Given the description of an element on the screen output the (x, y) to click on. 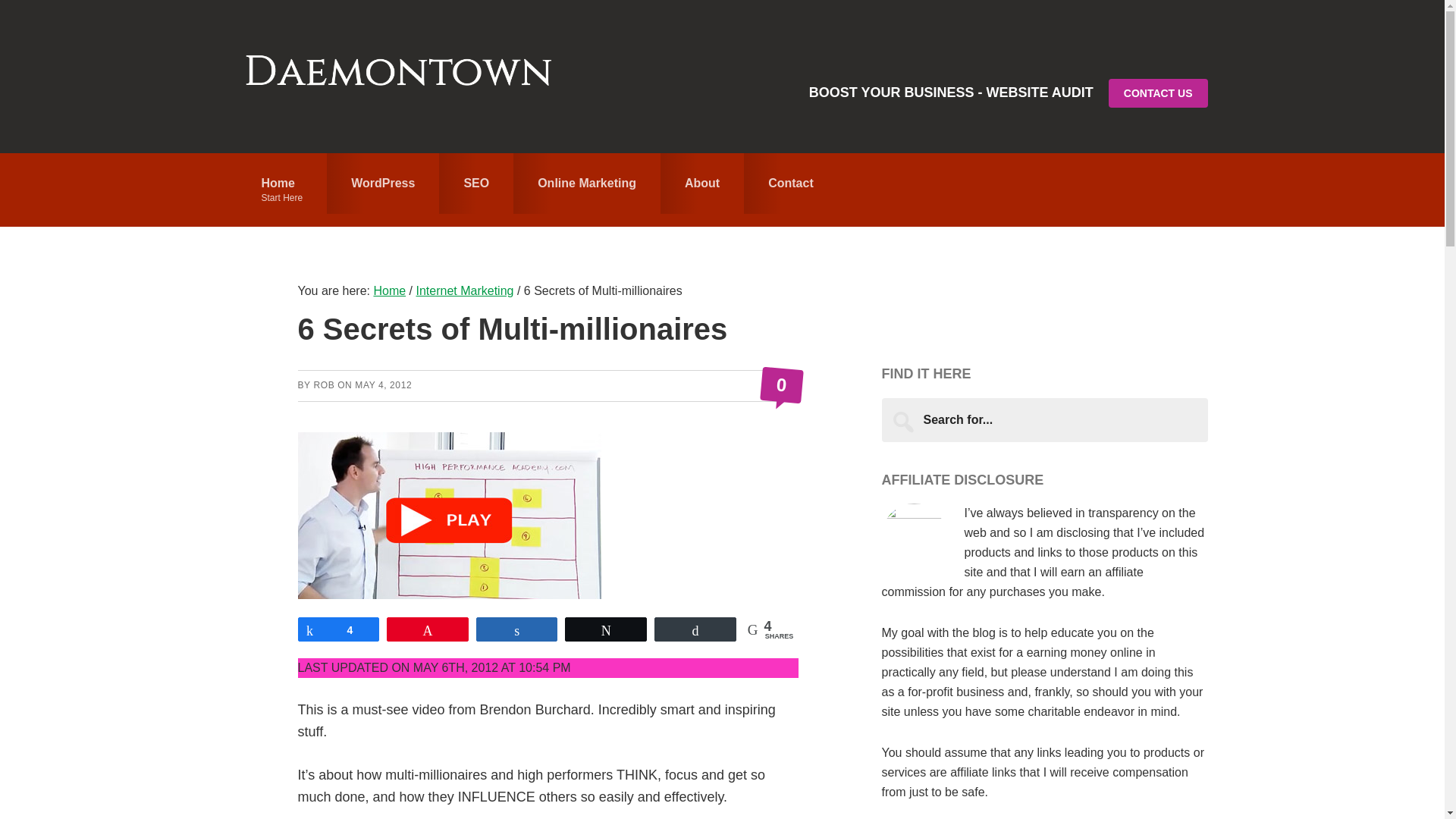
About (702, 183)
SEO (476, 183)
4 (338, 628)
CONTACT US (1158, 92)
ROB (280, 189)
Contact (323, 385)
Daemontown (791, 183)
Search (398, 75)
Online Marketing (780, 383)
Home (587, 183)
WordPress (389, 290)
Search (382, 183)
